Given the description of an element on the screen output the (x, y) to click on. 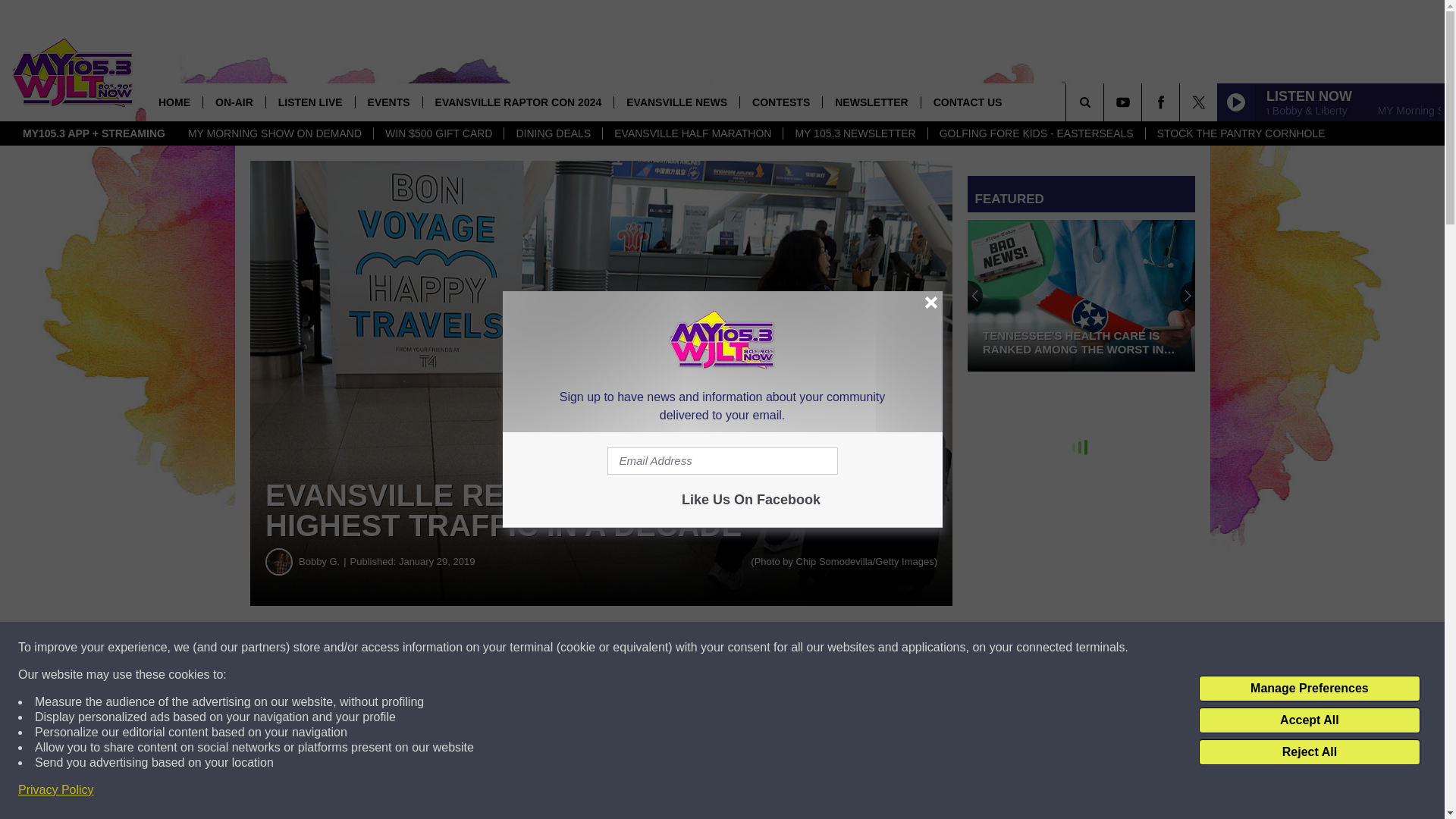
STOCK THE PANTRY CORNHOLE (1240, 133)
LISTEN LIVE (309, 102)
EVENTS (388, 102)
Accept All (1309, 720)
Manage Preferences (1309, 688)
HOME (174, 102)
EVANSVILLE NEWS (675, 102)
EVANSVILLE HALF MARATHON (692, 133)
MY 105.3 NEWSLETTER (854, 133)
CONTESTS (780, 102)
Share on Facebook (460, 647)
EVANSVILLE RAPTOR CON 2024 (518, 102)
CONTACT US (967, 102)
SEARCH (1106, 102)
MY MORNING SHOW ON DEMAND (274, 133)
